Given the description of an element on the screen output the (x, y) to click on. 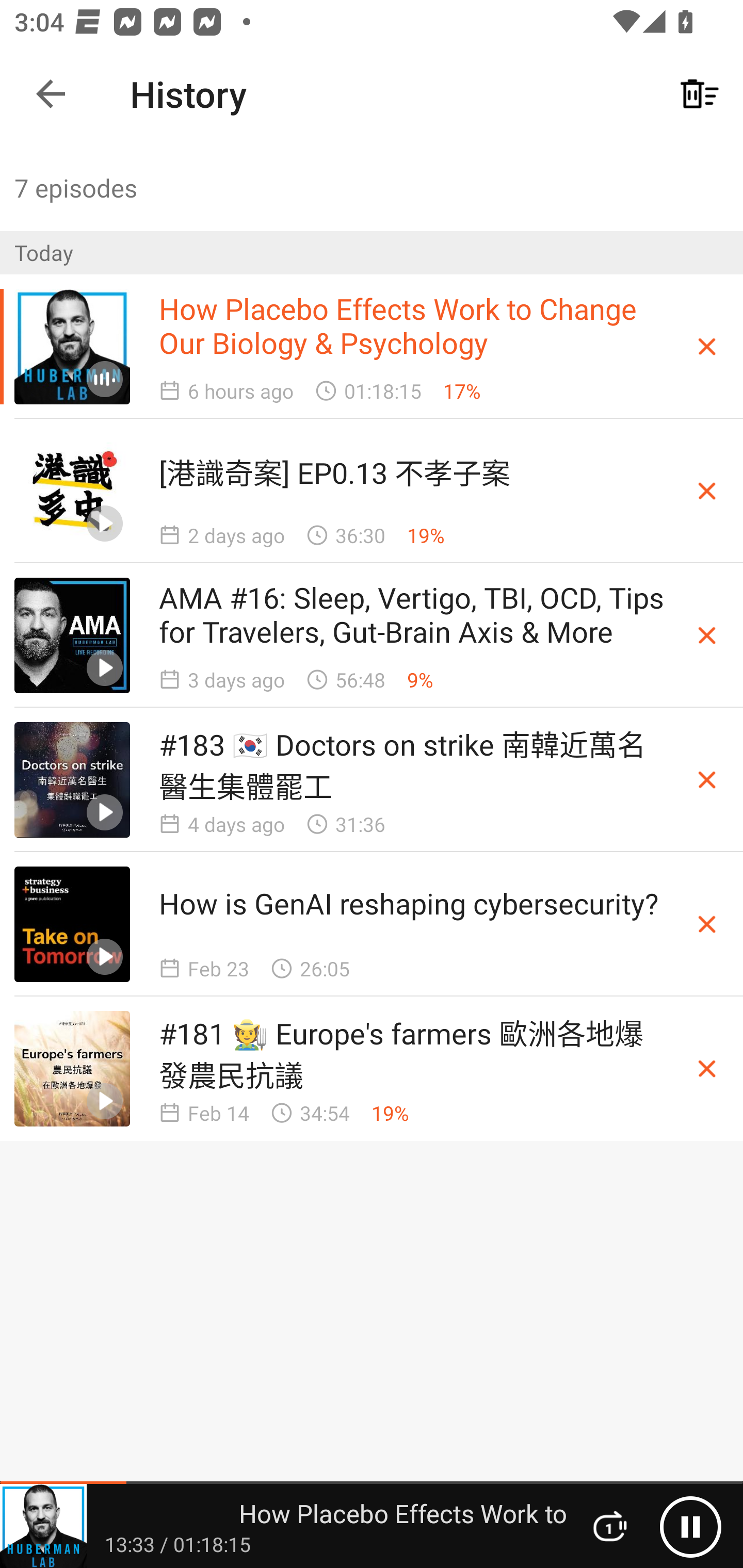
Navigate up (50, 93)
Clear (699, 93)
Delete (706, 346)
Delete (706, 490)
Delete (706, 634)
Delete (706, 779)
Delete (706, 924)
Delete (706, 1068)
Pause (690, 1526)
